Given the description of an element on the screen output the (x, y) to click on. 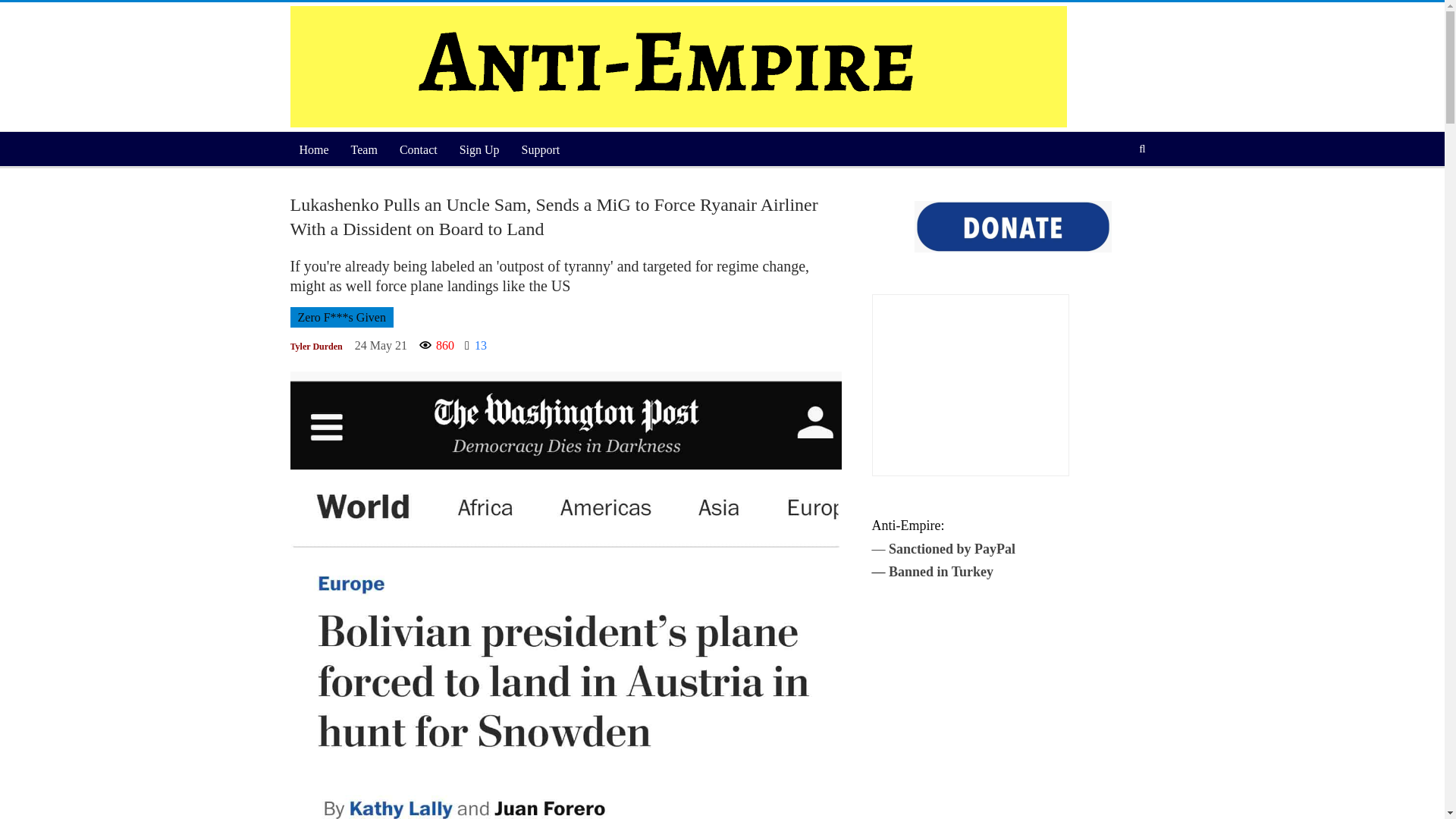
Home (313, 149)
13 (475, 345)
Support (540, 149)
Sign Up (478, 149)
Team (364, 149)
Browse Author Articles (315, 346)
Contact (418, 149)
Tyler Durden (315, 346)
